Given the description of an element on the screen output the (x, y) to click on. 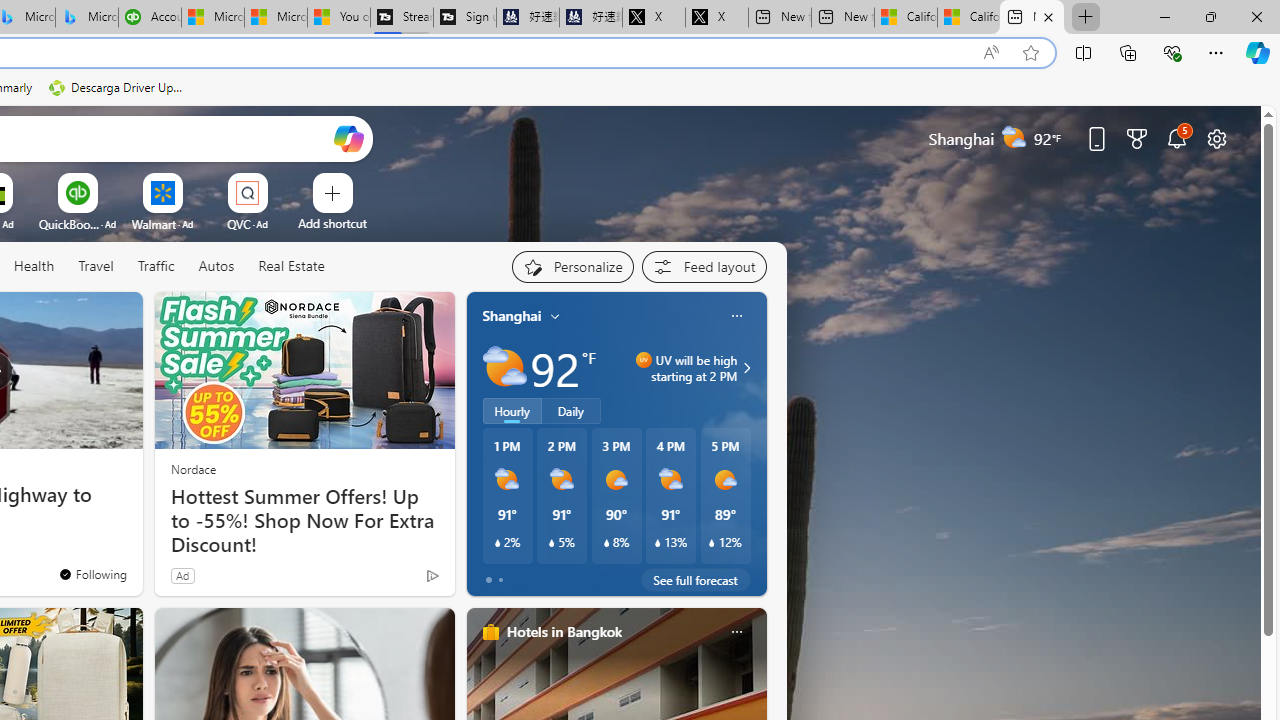
Partly sunny (504, 368)
Class: weather-current-precipitation-glyph (712, 543)
Page settings (1216, 138)
Personalize your feed" (571, 266)
Hotels in Bangkok (563, 631)
Descarga Driver Updater (118, 88)
